Given the description of an element on the screen output the (x, y) to click on. 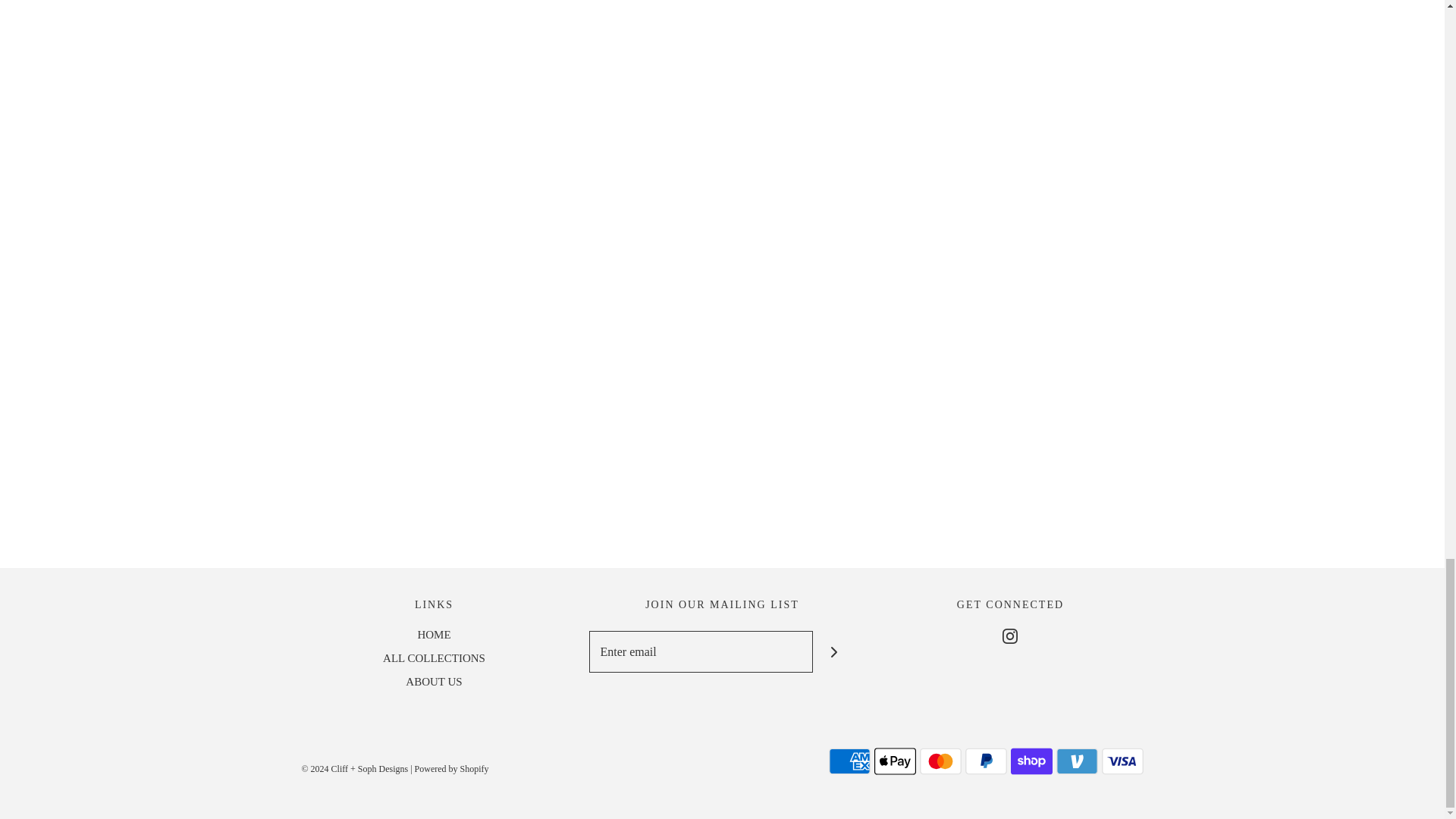
Shop Pay (1030, 761)
Venmo (1076, 761)
Visa (1121, 761)
Instagram icon (1010, 635)
Apple Pay (894, 761)
Mastercard (939, 761)
PayPal (984, 761)
American Express (848, 761)
